Given the description of an element on the screen output the (x, y) to click on. 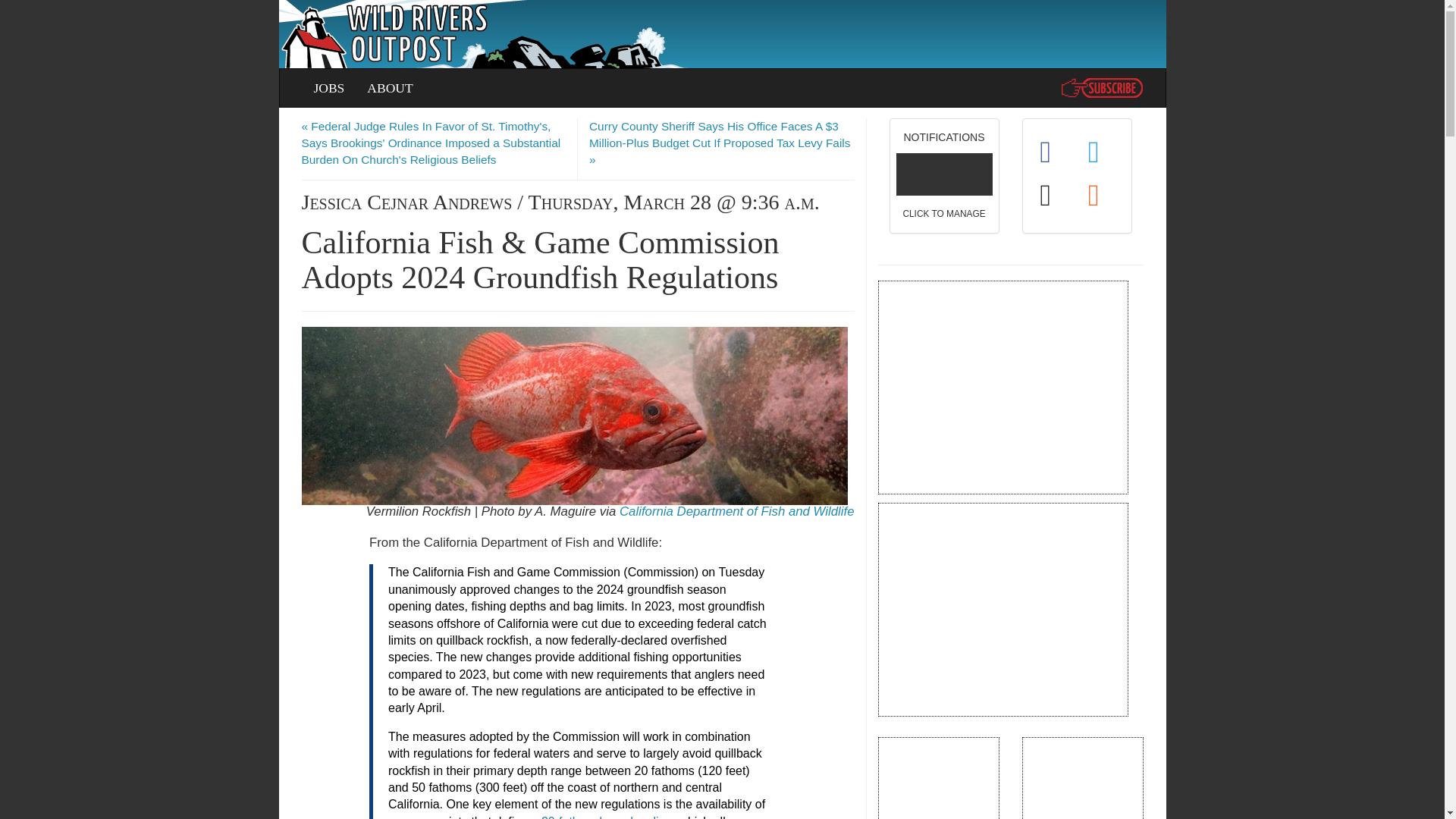
20-fathom boundary line (606, 816)
California Department of Fish and Wildlife (943, 175)
ABOUT (737, 511)
JOBS (389, 87)
